Given the description of an element on the screen output the (x, y) to click on. 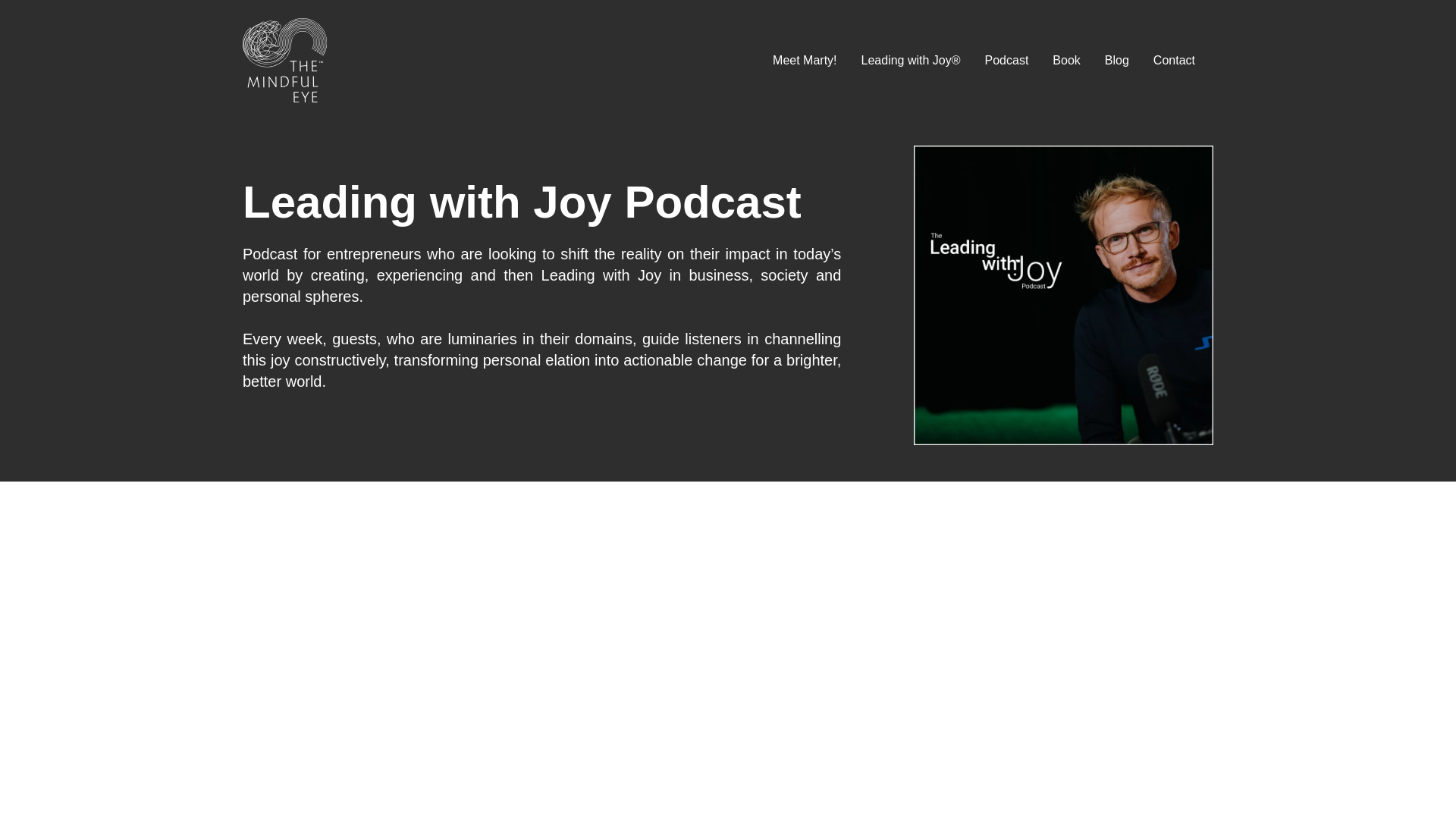
Podcast (1007, 60)
Blog (1117, 60)
Contact (1174, 60)
The Mindful Eye (285, 60)
Meet Marty! (804, 60)
Book (1066, 60)
